Given the description of an element on the screen output the (x, y) to click on. 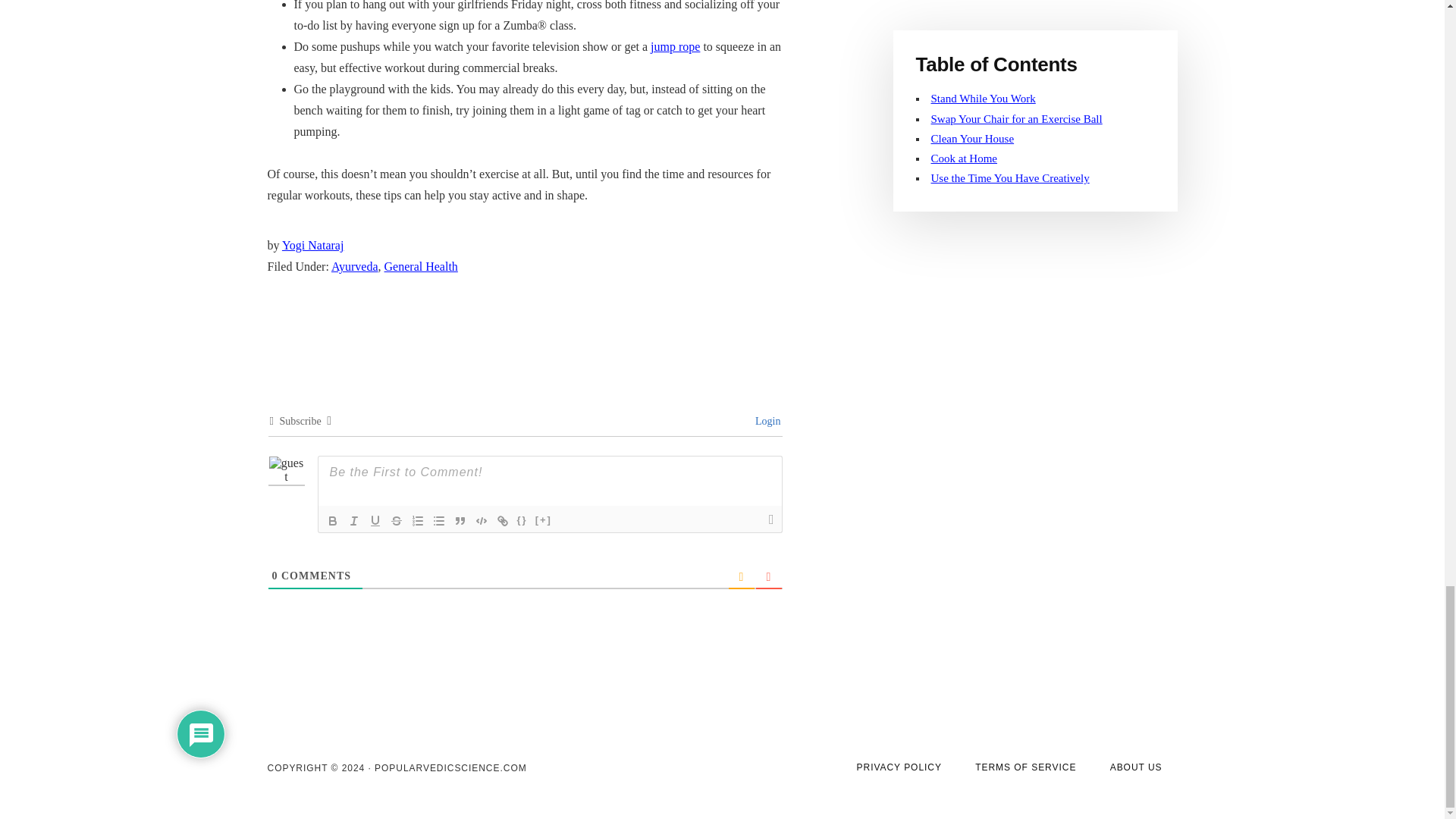
Source Code (521, 520)
Blockquote (459, 520)
Spoiler (543, 520)
Italic (353, 520)
Link (502, 520)
Strike (395, 520)
Code Block (481, 520)
Bold (331, 520)
Unordered List (438, 520)
Ordered List (417, 520)
jump rope (675, 46)
Underline (374, 520)
